Given the description of an element on the screen output the (x, y) to click on. 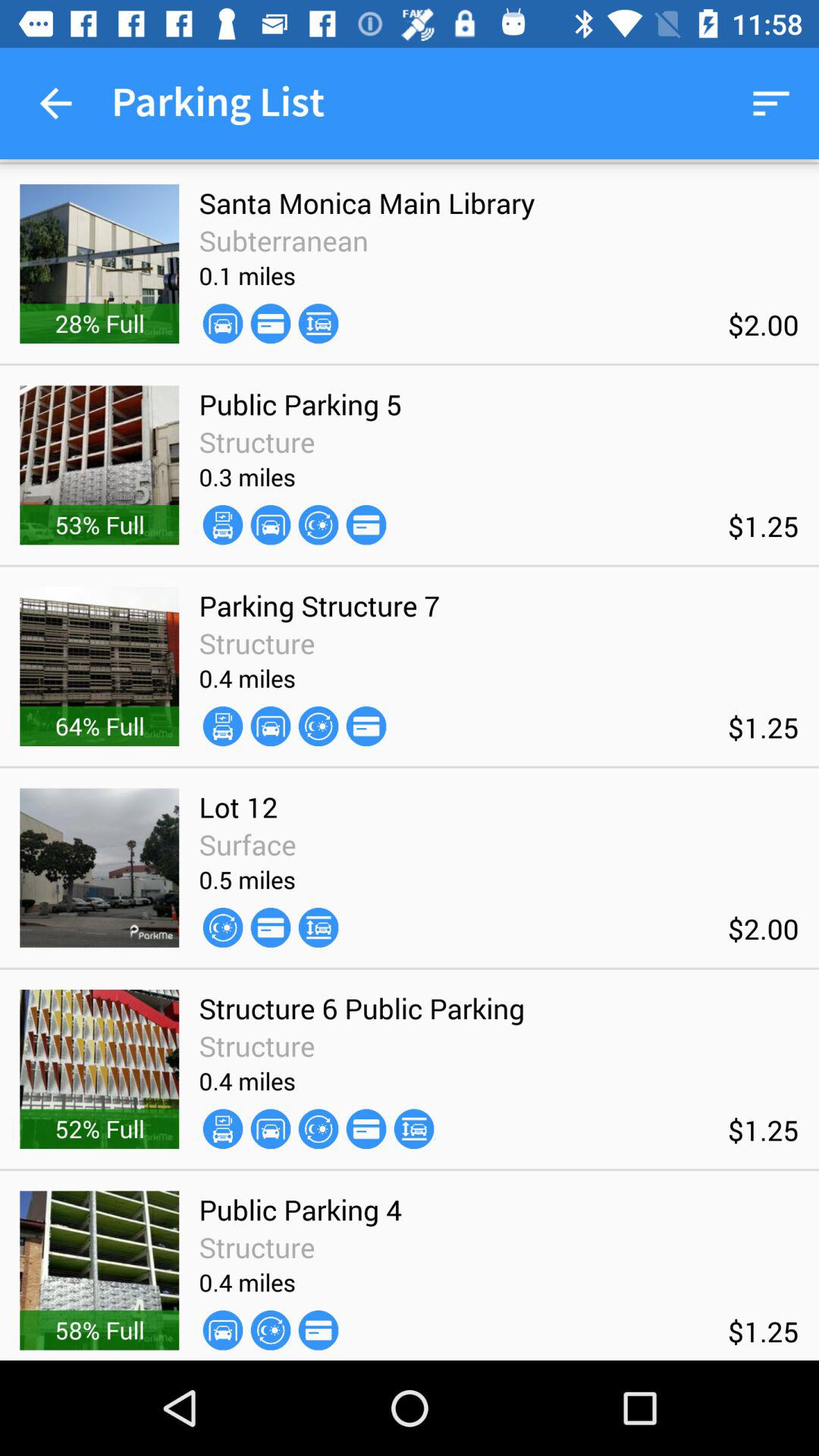
press item next to parking list icon (55, 103)
